Given the description of an element on the screen output the (x, y) to click on. 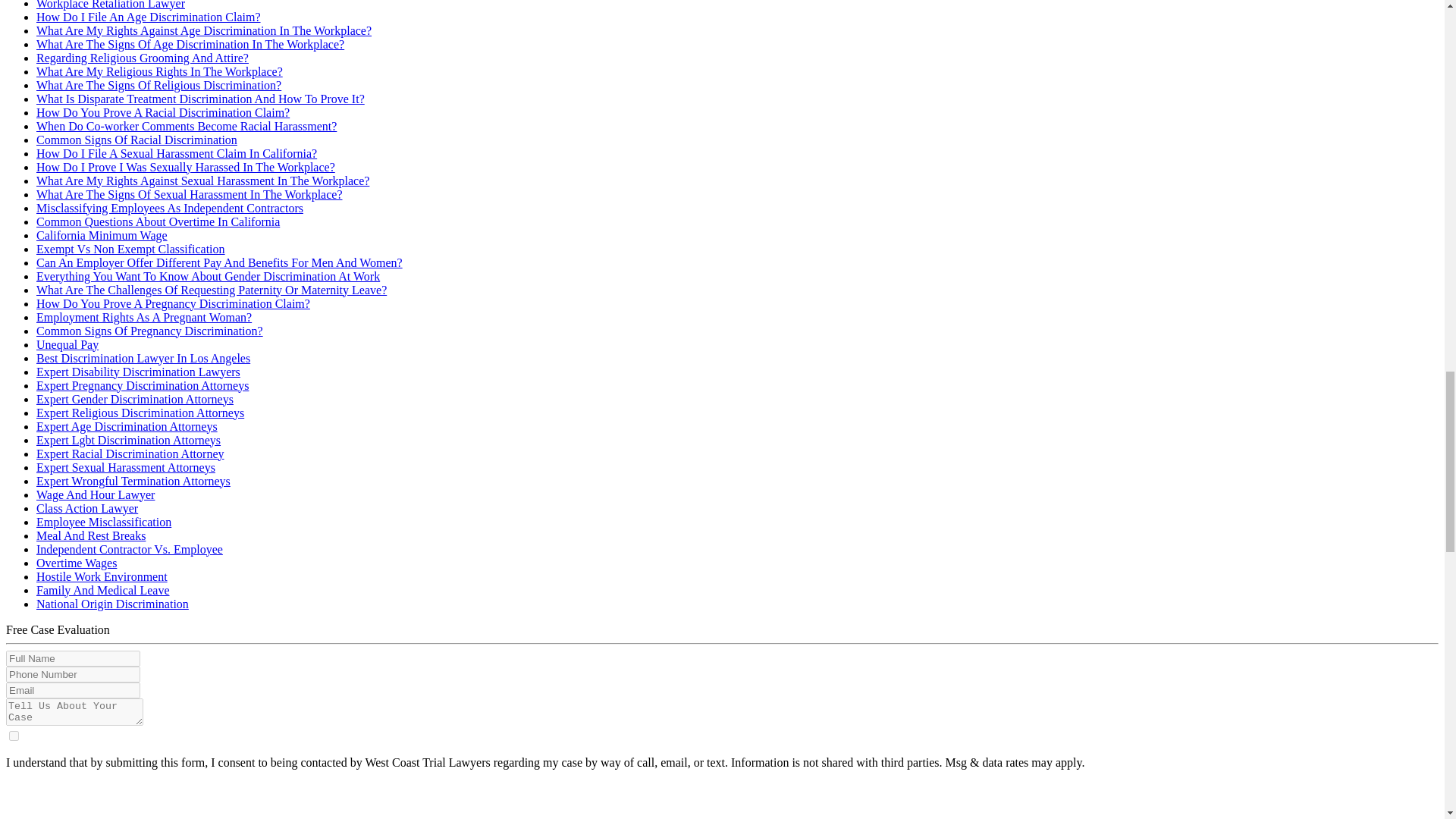
on (13, 736)
